Given the description of an element on the screen output the (x, y) to click on. 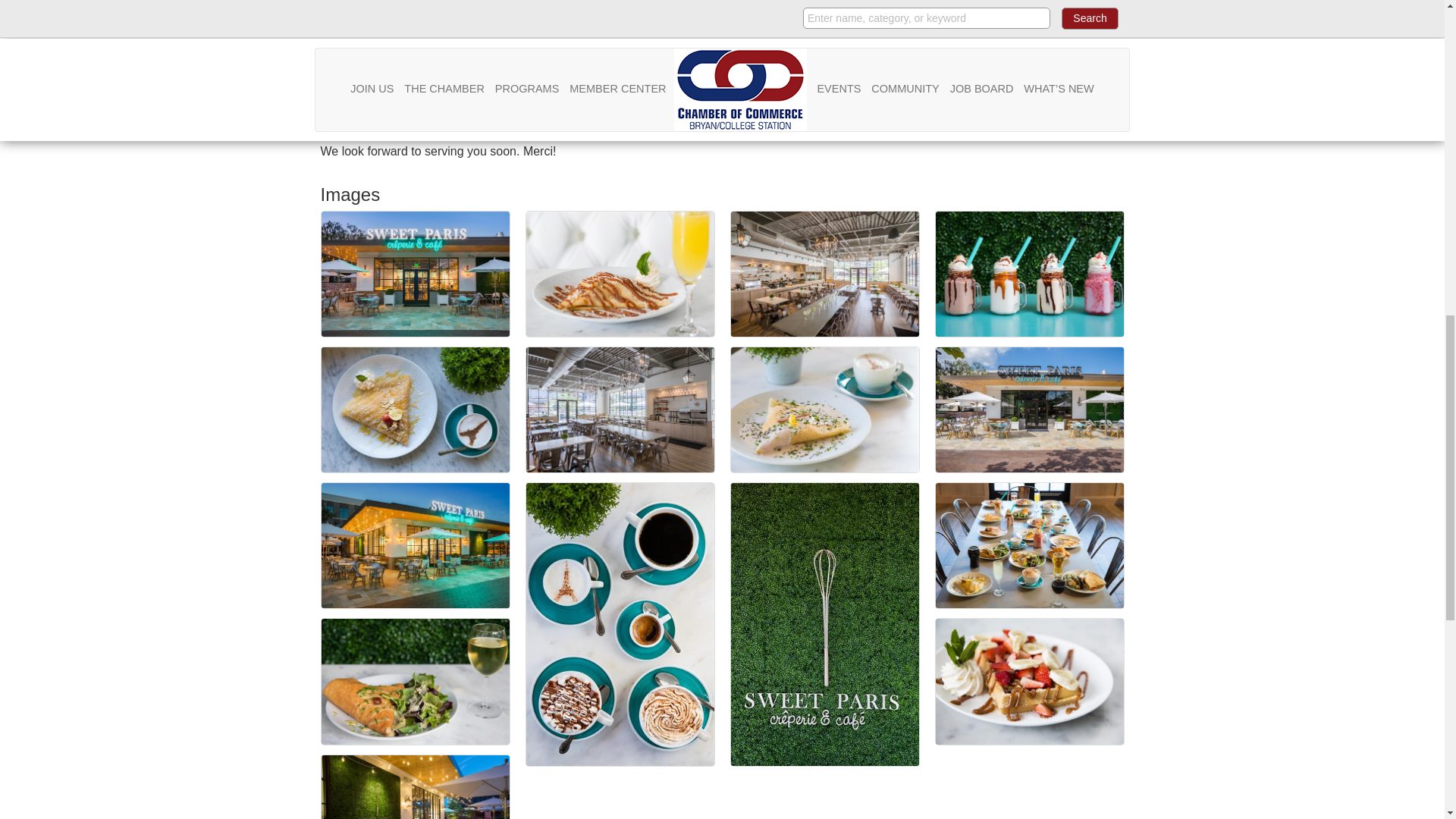
Gallery Image 6H1A9300-HDR.jpg (619, 409)
Gallery Image 6H1A0810.jpg (415, 409)
Gallery Image 6H1A0019-HDR.jpg (415, 273)
Gallery Image 6H1A9815.jpg (415, 681)
Gallery Image 6H1A0056.jpg (415, 787)
Gallery Image 6H1A9579.jpg (619, 273)
